Given the description of an element on the screen output the (x, y) to click on. 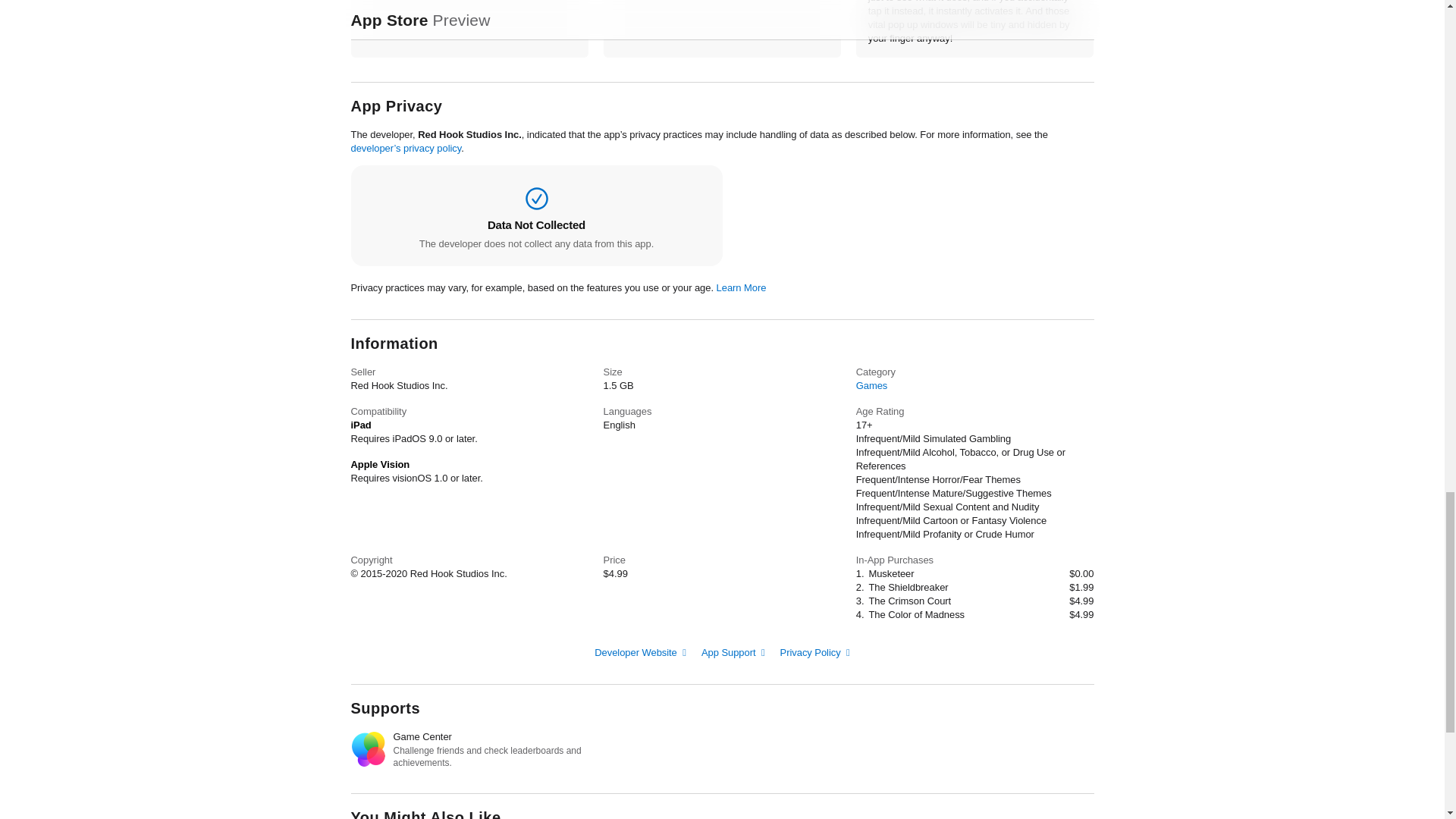
Games (872, 385)
Learn More (741, 287)
App Support (733, 652)
Developer Website (639, 652)
Privacy Policy (815, 652)
